Given the description of an element on the screen output the (x, y) to click on. 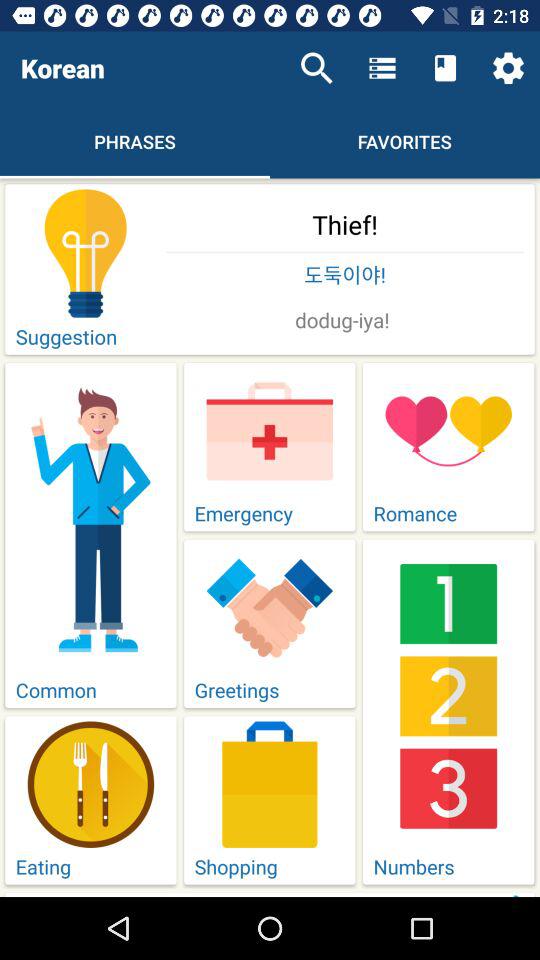
turn off the item above the thief! icon (316, 67)
